Given the description of an element on the screen output the (x, y) to click on. 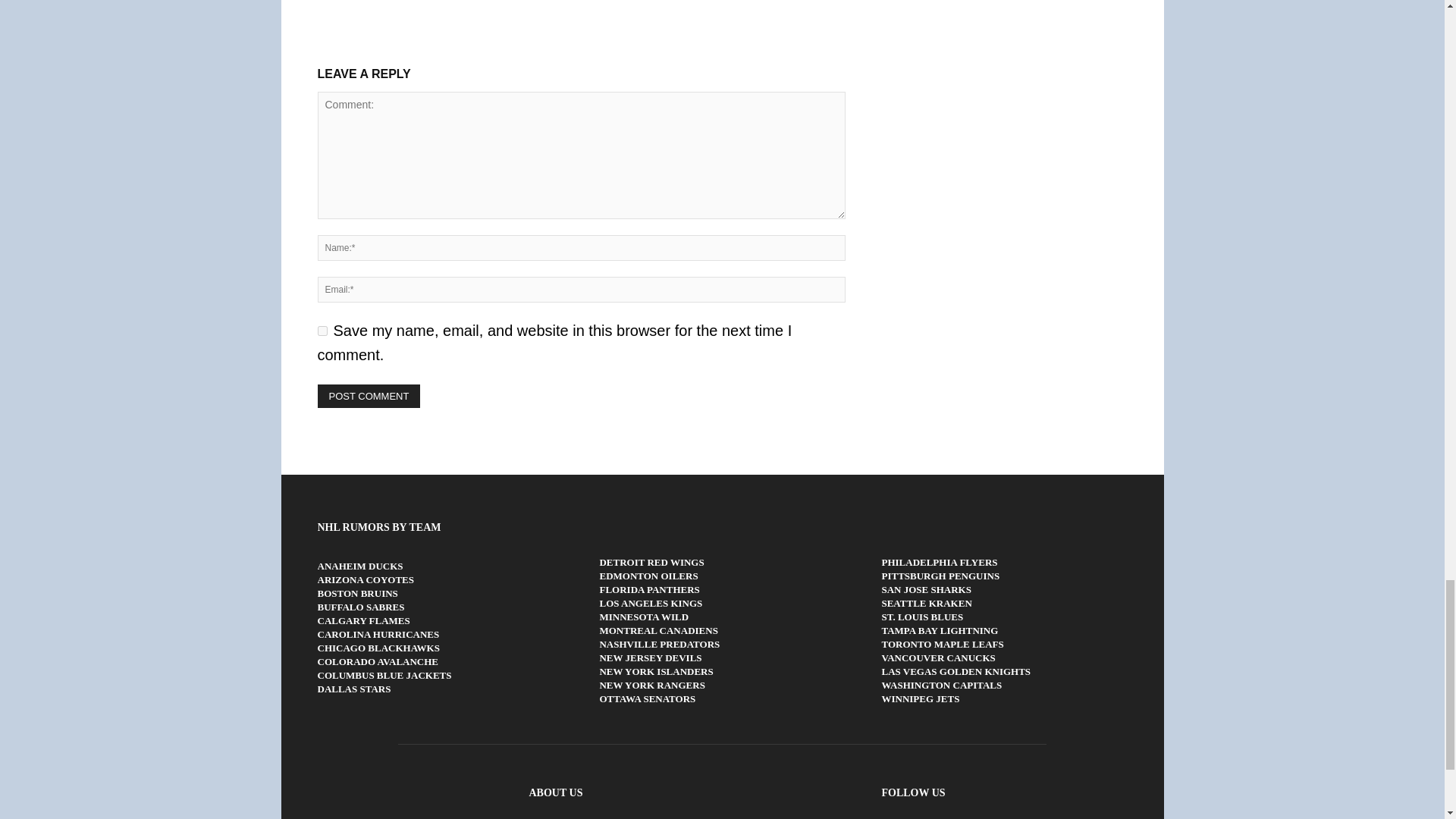
yes (321, 330)
Post Comment (368, 395)
